Given the description of an element on the screen output the (x, y) to click on. 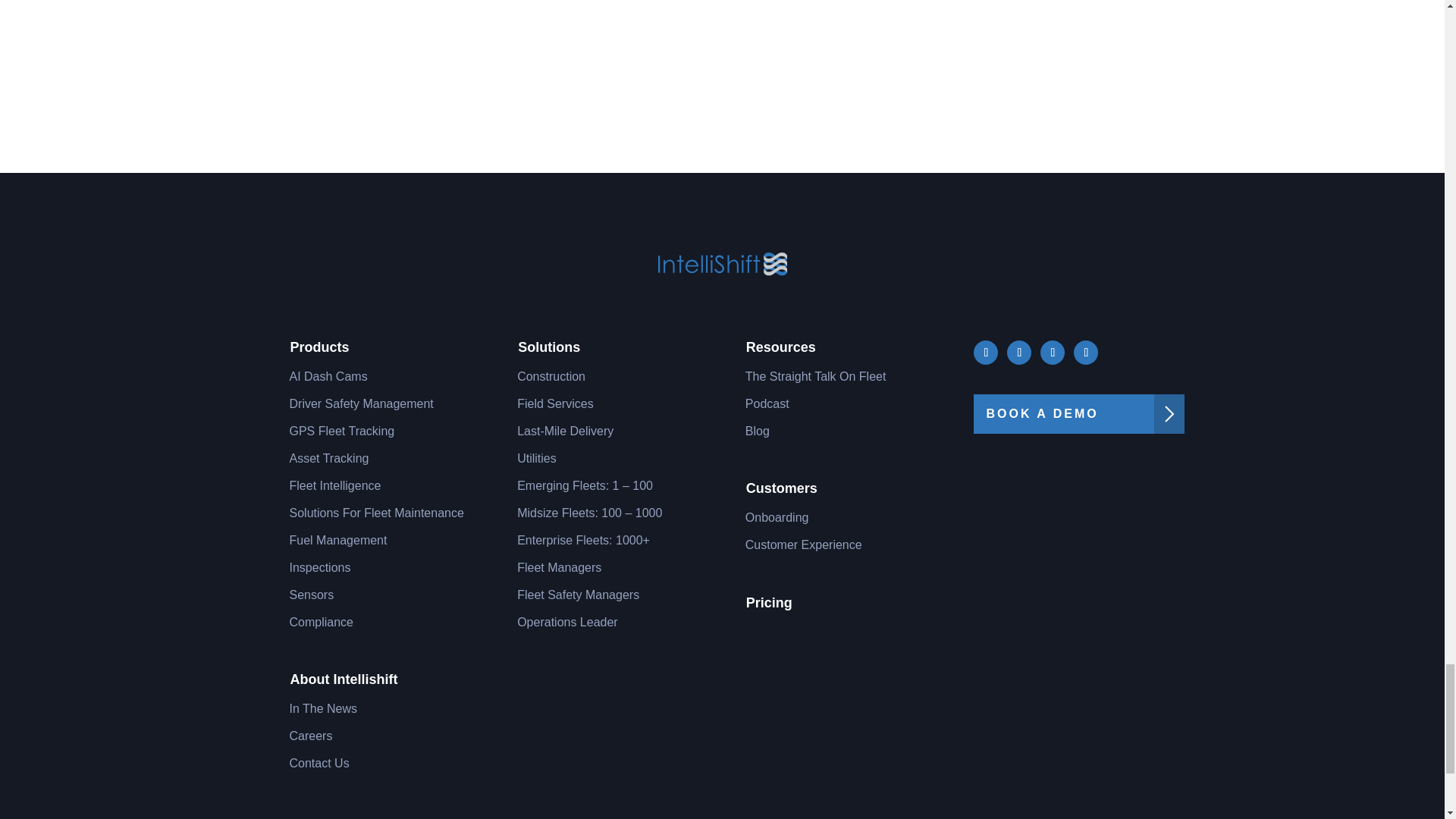
Logo-intelliShift (722, 264)
Follow on Instagram (1085, 352)
Follow on X (1018, 352)
Follow on Facebook (985, 352)
Follow on LinkedIn (1052, 352)
